Given the description of an element on the screen output the (x, y) to click on. 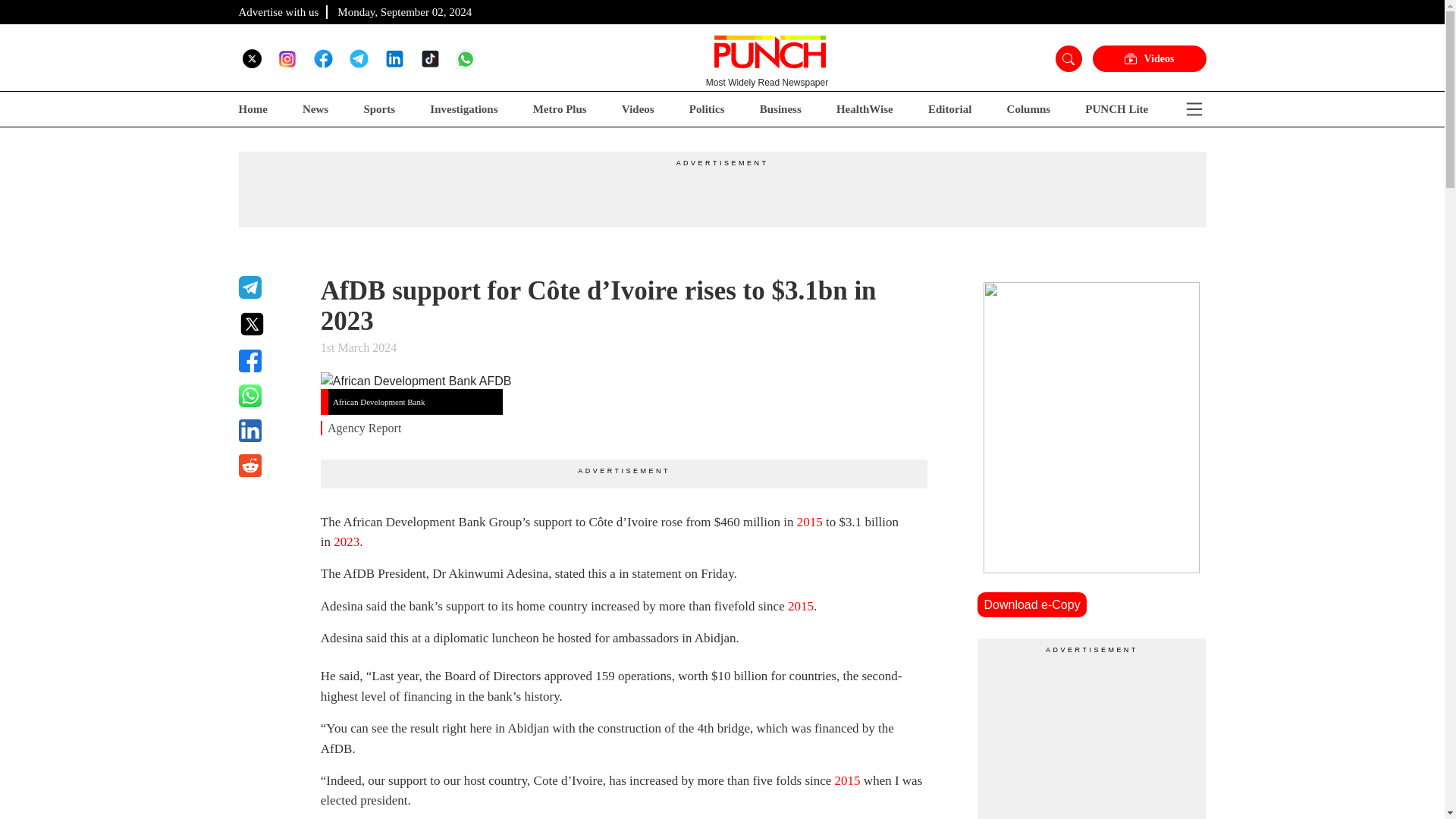
Follow Us on X (252, 58)
Share on Telegram (269, 287)
Videos (1148, 58)
Editorial (950, 109)
Share on Facbook (269, 360)
Follow us on Tiktok (430, 58)
Share on Linkedin (269, 430)
Advertise with us (278, 11)
Videos (637, 109)
News (315, 109)
